Given the description of an element on the screen output the (x, y) to click on. 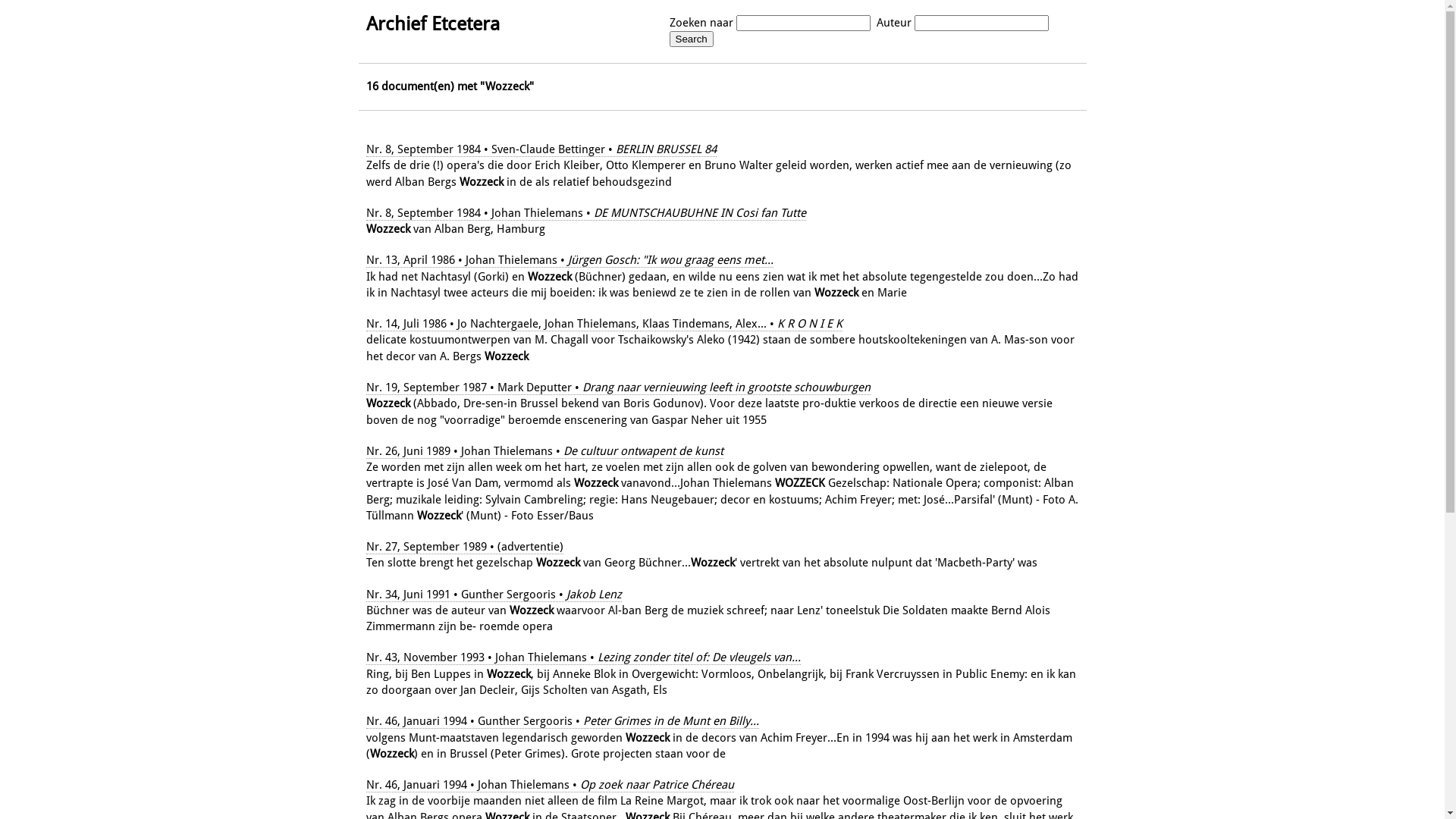
Archief Etcetera Element type: text (431, 23)
Search Element type: text (690, 39)
